Given the description of an element on the screen output the (x, y) to click on. 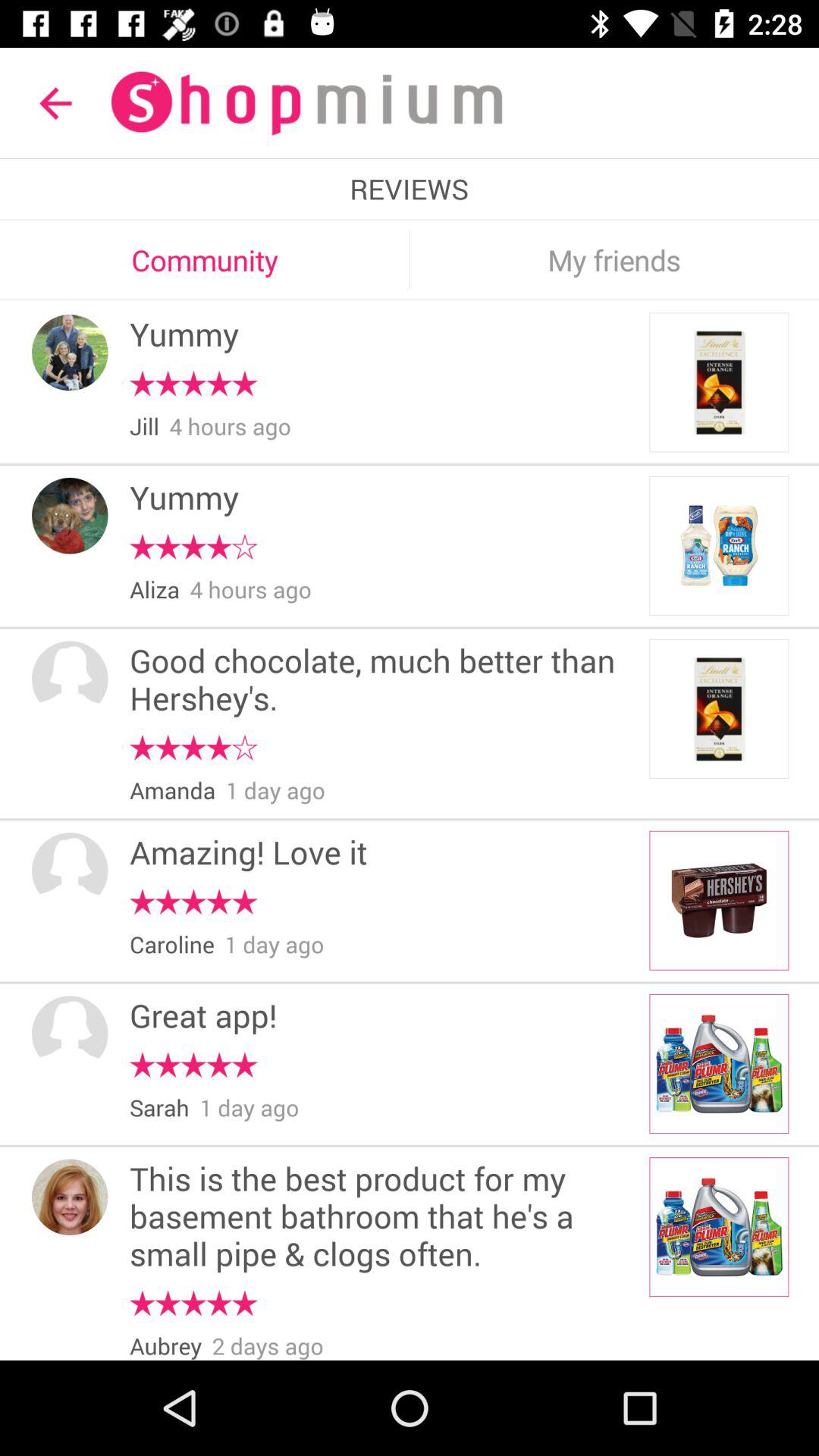
select the good chocolate much icon (384, 681)
